Given the description of an element on the screen output the (x, y) to click on. 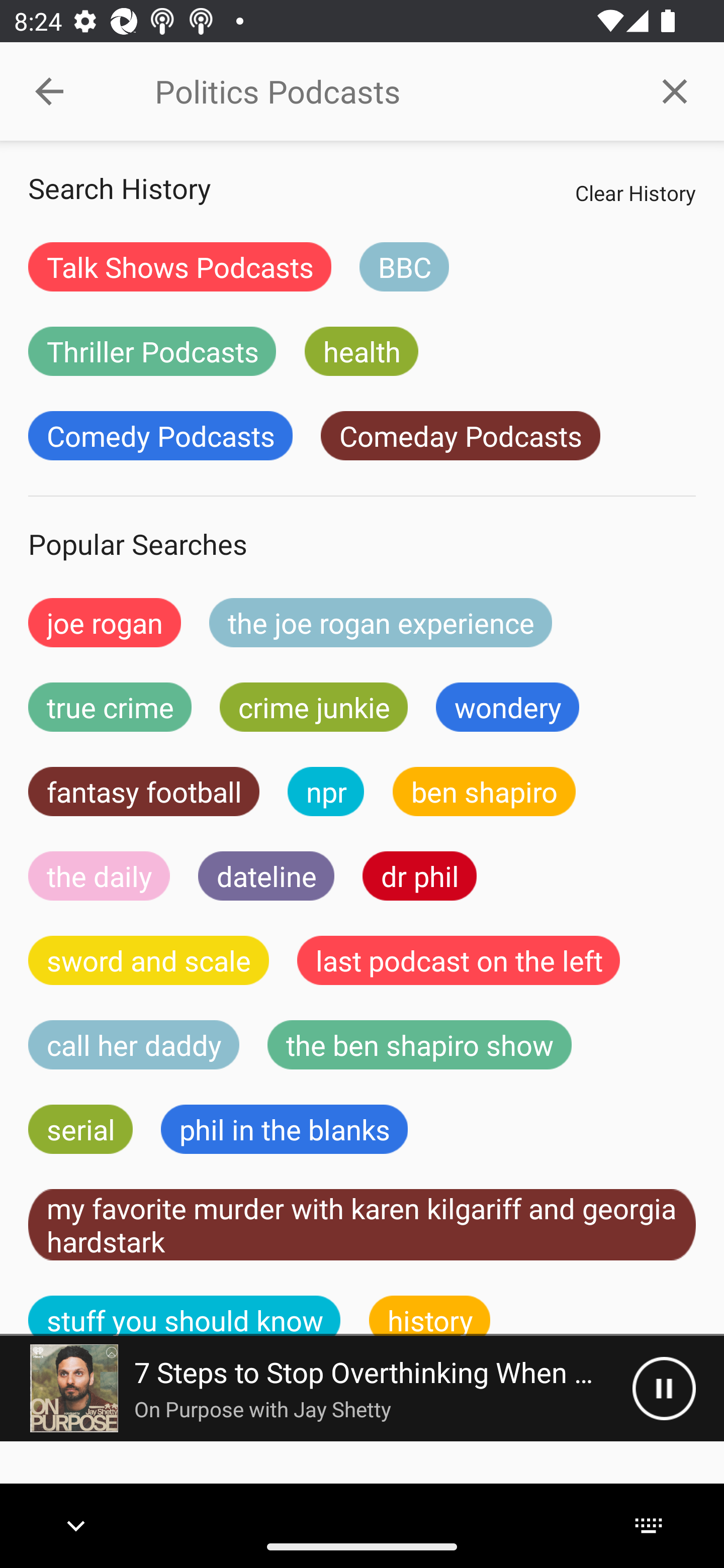
Collapse (49, 91)
Clear query (674, 90)
Politics Podcasts (389, 91)
Clear History (634, 192)
Talk Shows Podcasts (179, 266)
BBC (403, 266)
Thriller Podcasts (152, 351)
health (361, 351)
Comedy Podcasts (160, 435)
Comeday Podcasts (460, 435)
joe rogan (104, 622)
the joe rogan experience (380, 622)
true crime (109, 707)
crime junkie (313, 707)
wondery (507, 707)
fantasy football (143, 791)
npr (325, 791)
ben shapiro (483, 791)
the daily (99, 875)
dateline (266, 875)
dr phil (419, 875)
sword and scale (148, 960)
last podcast on the left (458, 960)
call her daddy (133, 1044)
the ben shapiro show (419, 1044)
serial (80, 1128)
phil in the blanks (283, 1128)
stuff you should know (184, 1315)
history (429, 1315)
Pause (663, 1388)
